Given the description of an element on the screen output the (x, y) to click on. 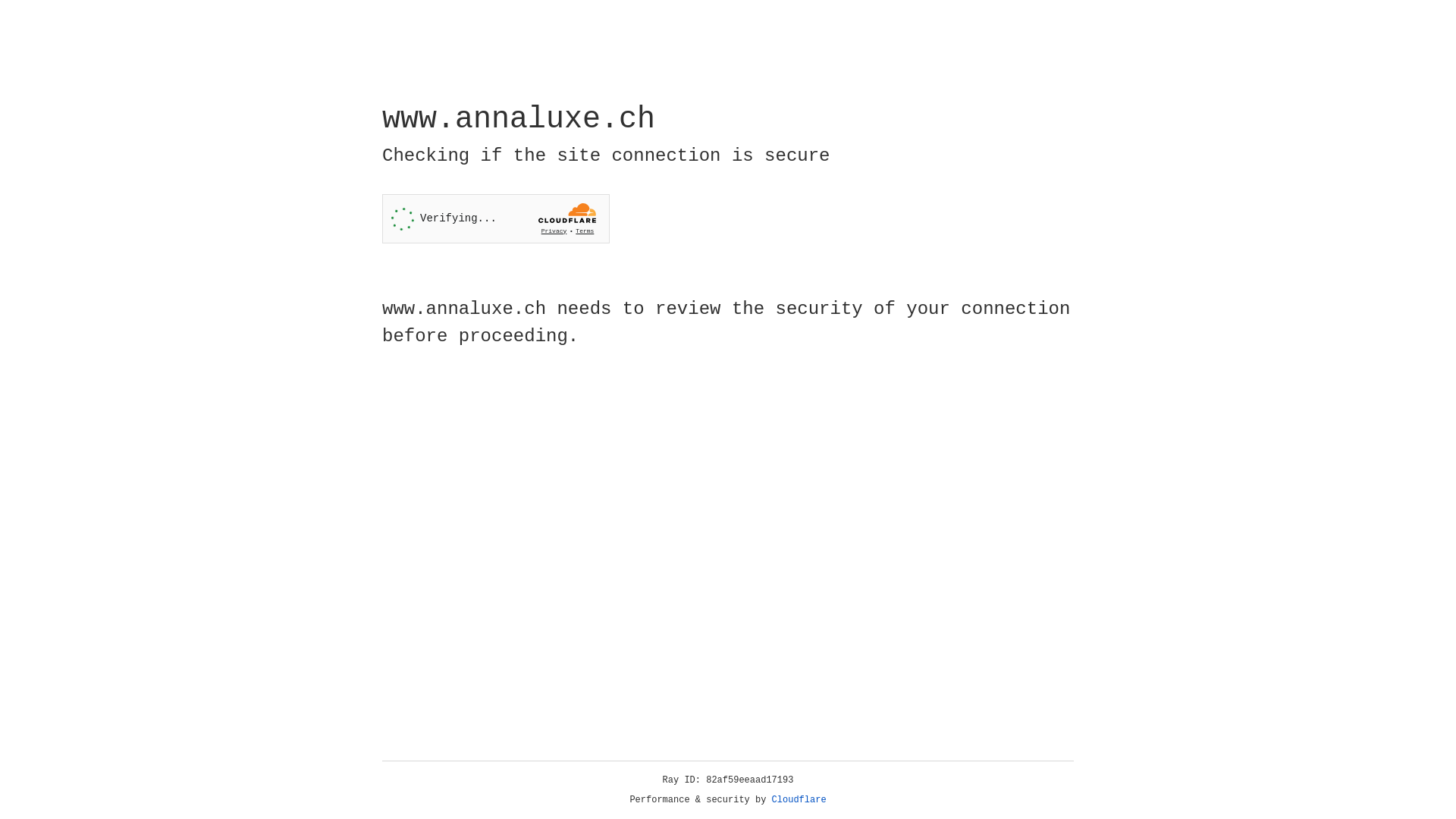
Cloudflare Element type: text (798, 799)
Widget containing a Cloudflare security challenge Element type: hover (495, 218)
